Given the description of an element on the screen output the (x, y) to click on. 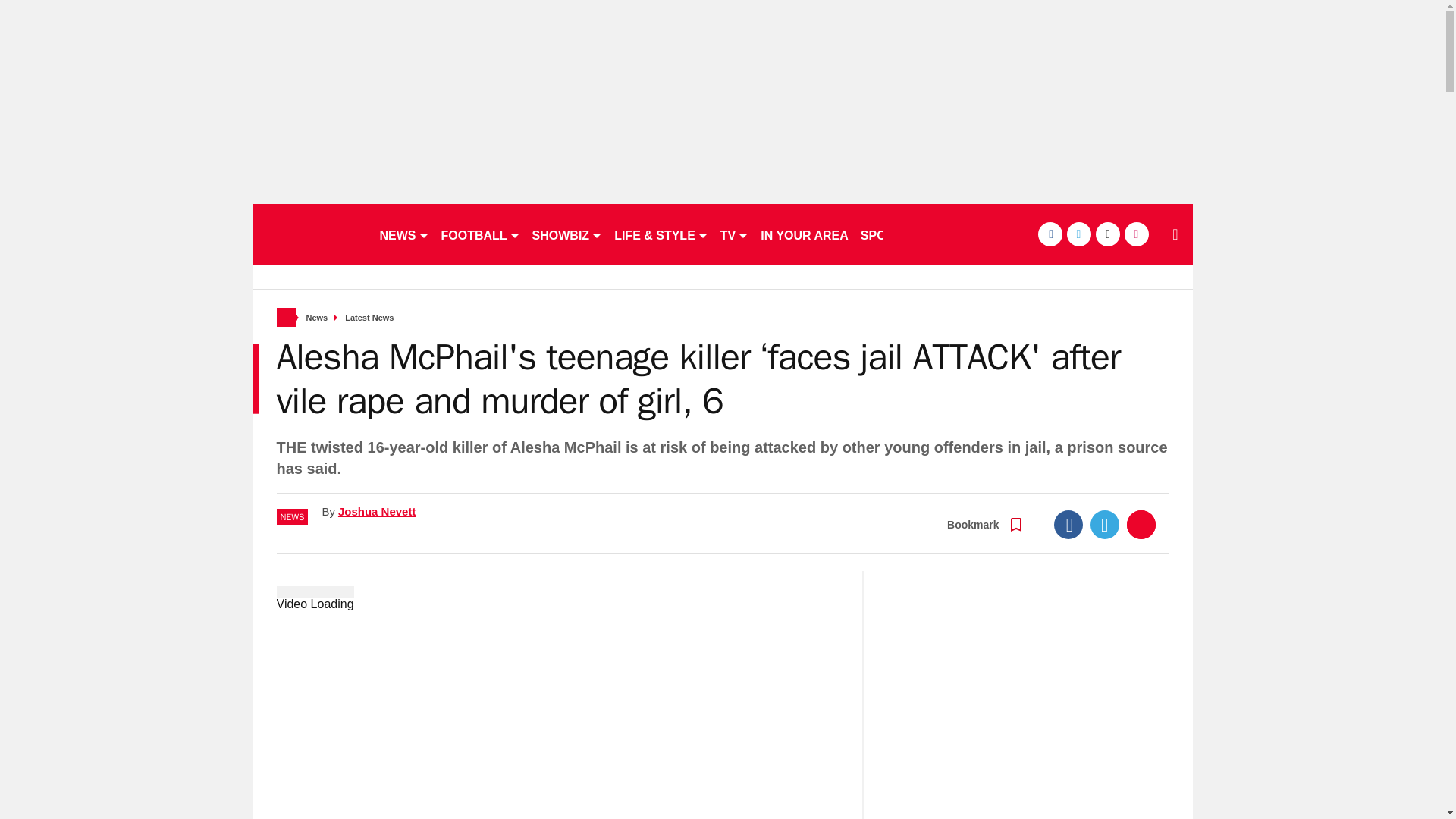
Facebook (1068, 524)
NEWS (402, 233)
SHOWBIZ (566, 233)
facebook (1048, 233)
tiktok (1106, 233)
dailystar (308, 233)
FOOTBALL (480, 233)
twitter (1077, 233)
instagram (1136, 233)
Twitter (1104, 524)
